Given the description of an element on the screen output the (x, y) to click on. 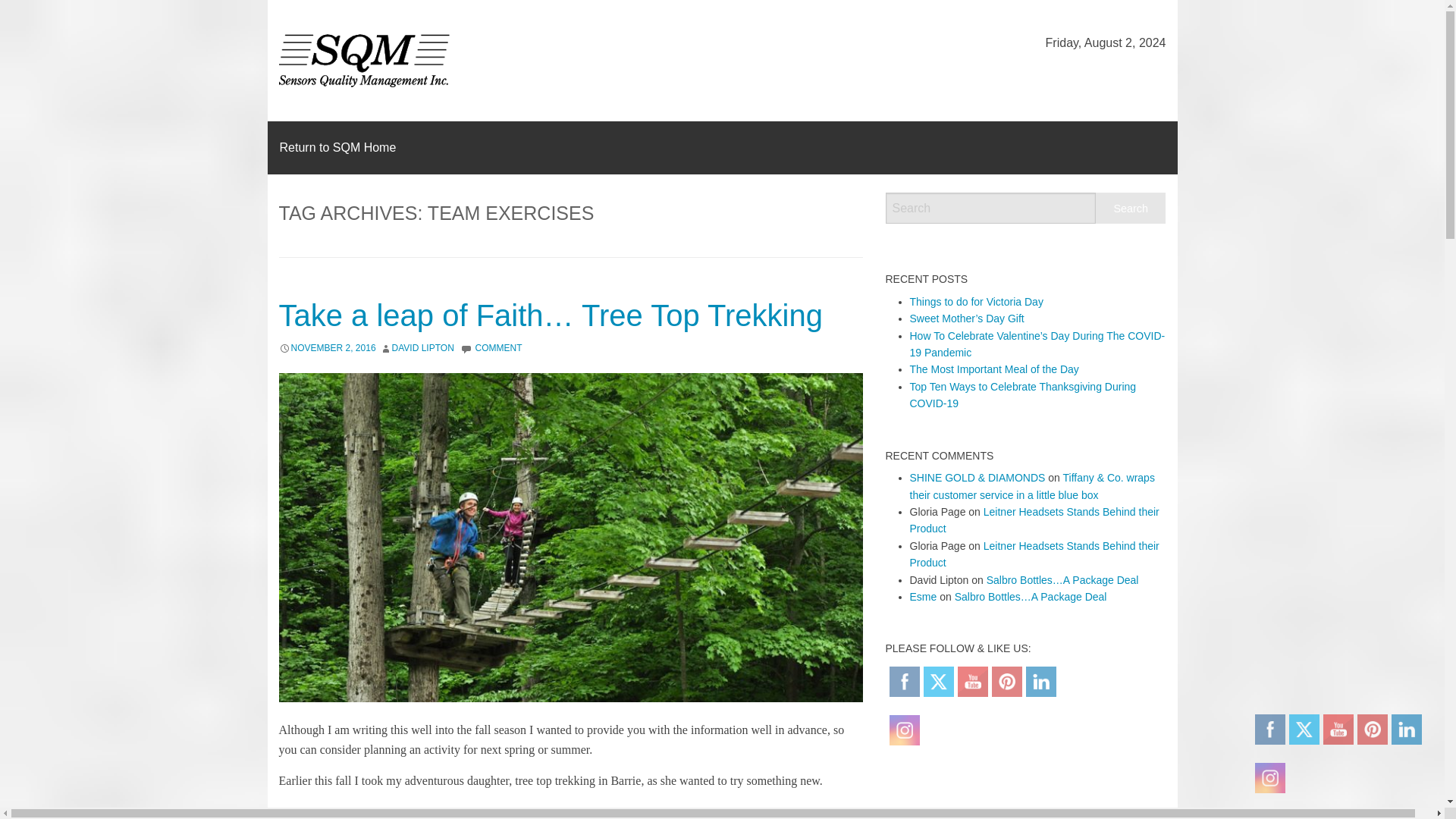
NOVEMBER 2, 2016 (333, 347)
YouTube (972, 681)
Search (1131, 207)
Facebook (904, 681)
LinkedIn (1040, 681)
Search (1131, 207)
COMMENT (497, 347)
Twitter (938, 681)
DAVID LIPTON (422, 347)
Return to SQM Home (336, 147)
PINTEREST (1005, 681)
